Given the description of an element on the screen output the (x, y) to click on. 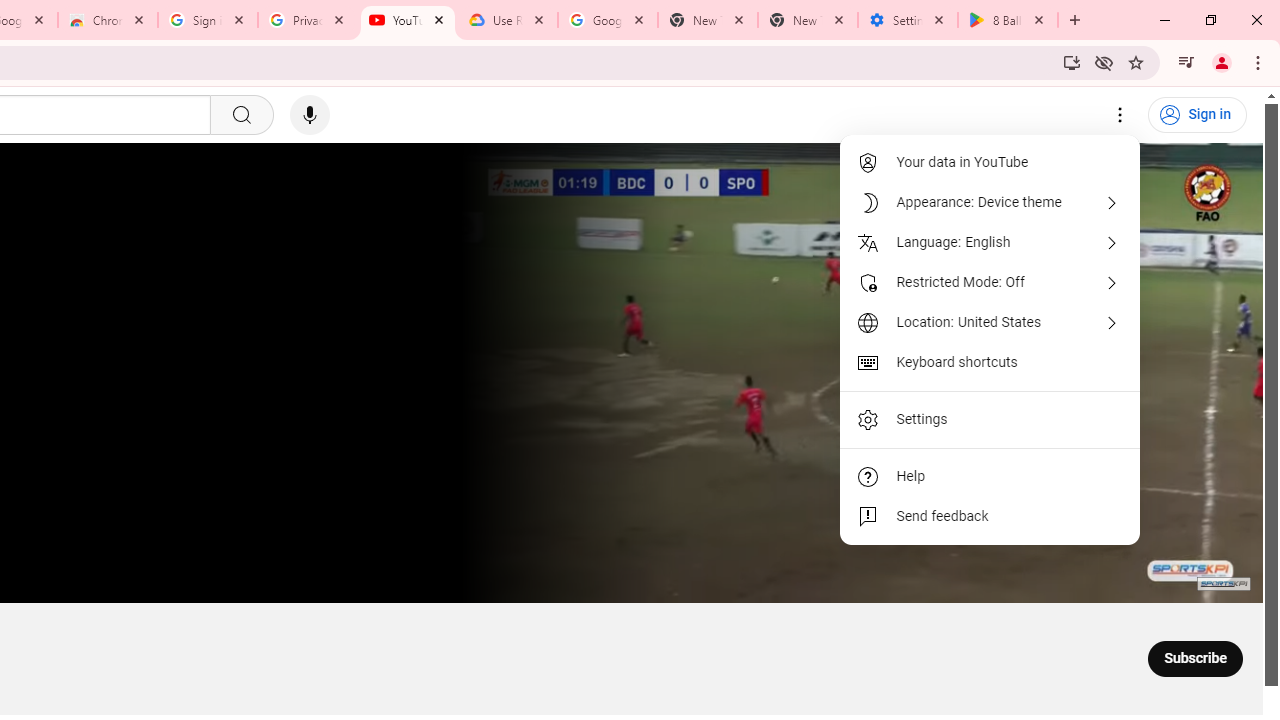
Restricted Mode: Off (989, 282)
Control your music, videos, and more (1185, 62)
Location: United States (989, 322)
Settings (1119, 115)
Search (240, 115)
Send feedback (989, 516)
YouTube (408, 20)
Settings (989, 419)
